Given the description of an element on the screen output the (x, y) to click on. 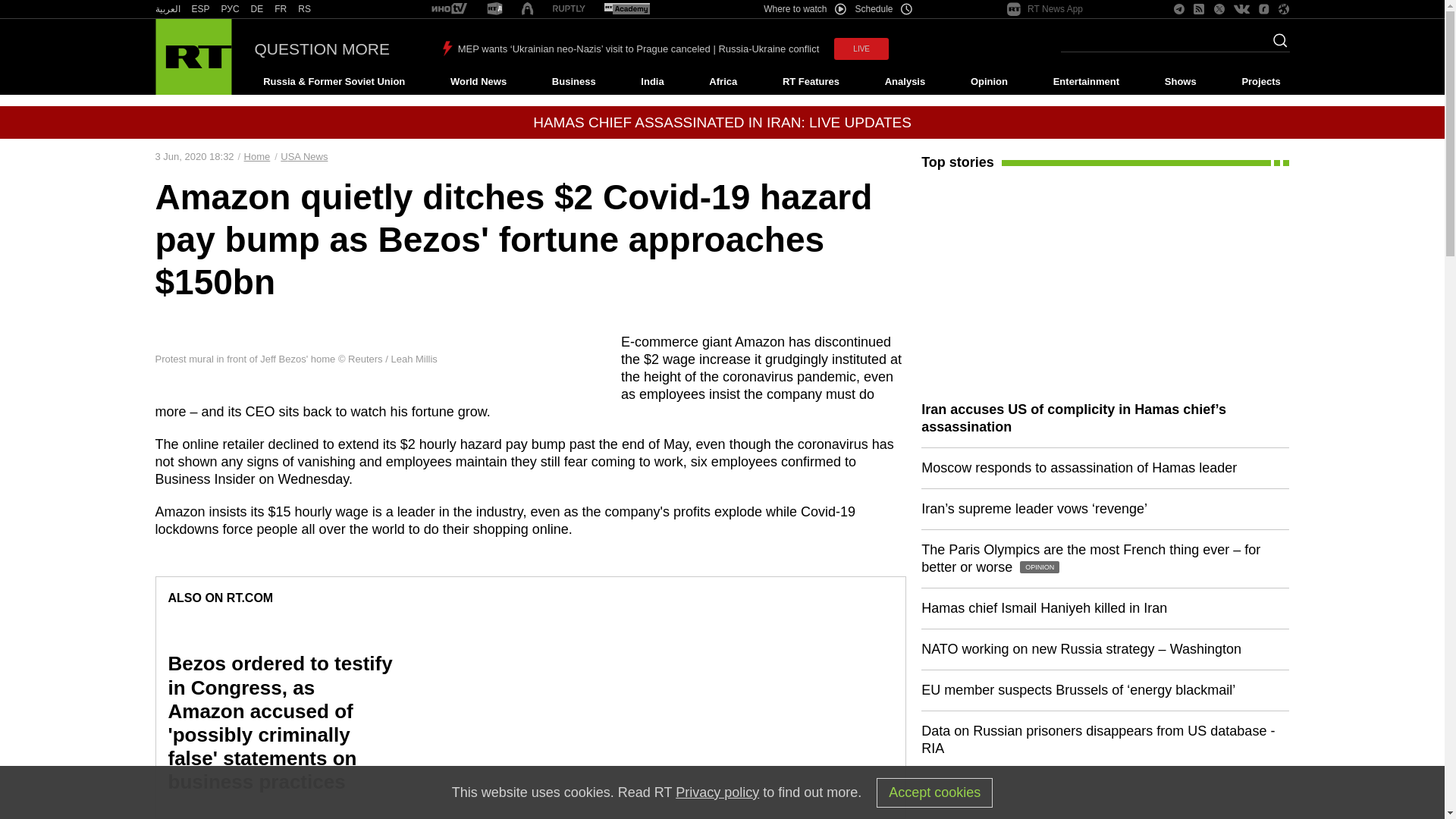
Analysis (905, 81)
Schedule (884, 9)
RT  (280, 9)
RT  (494, 9)
ESP (199, 9)
RT  (166, 9)
RS (304, 9)
RT  (230, 9)
RT  (626, 9)
RT Features (810, 81)
DE (256, 9)
Search (1276, 44)
LIVE (861, 48)
RT  (304, 9)
Search (1276, 44)
